Given the description of an element on the screen output the (x, y) to click on. 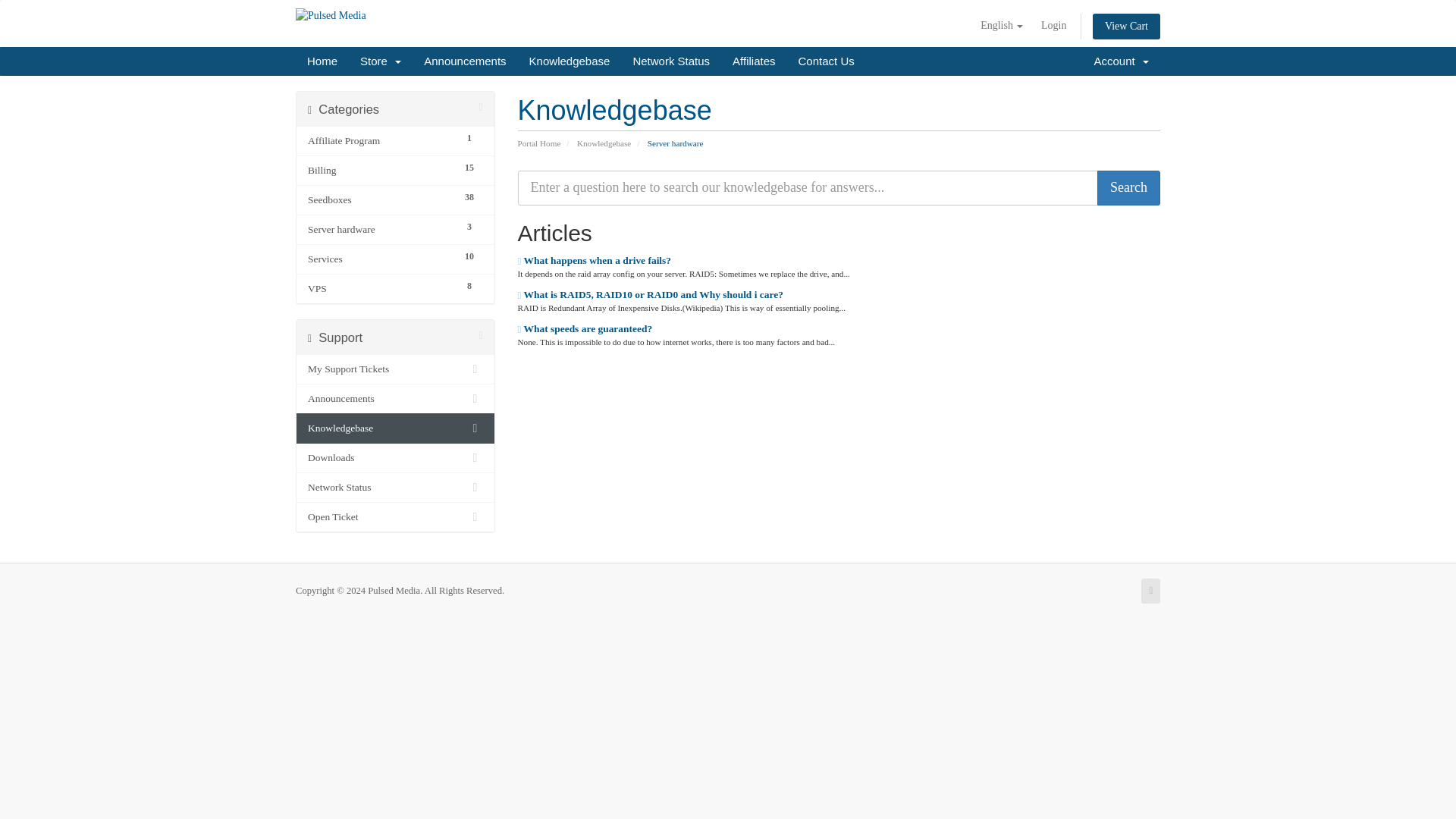
View Cart (1126, 26)
VPS (381, 289)
Search (1128, 187)
Services (381, 259)
Affiliate Program (381, 140)
Billing (381, 170)
Home (322, 61)
Login (1053, 25)
Server hardware (381, 229)
Store   (380, 61)
